Given the description of an element on the screen output the (x, y) to click on. 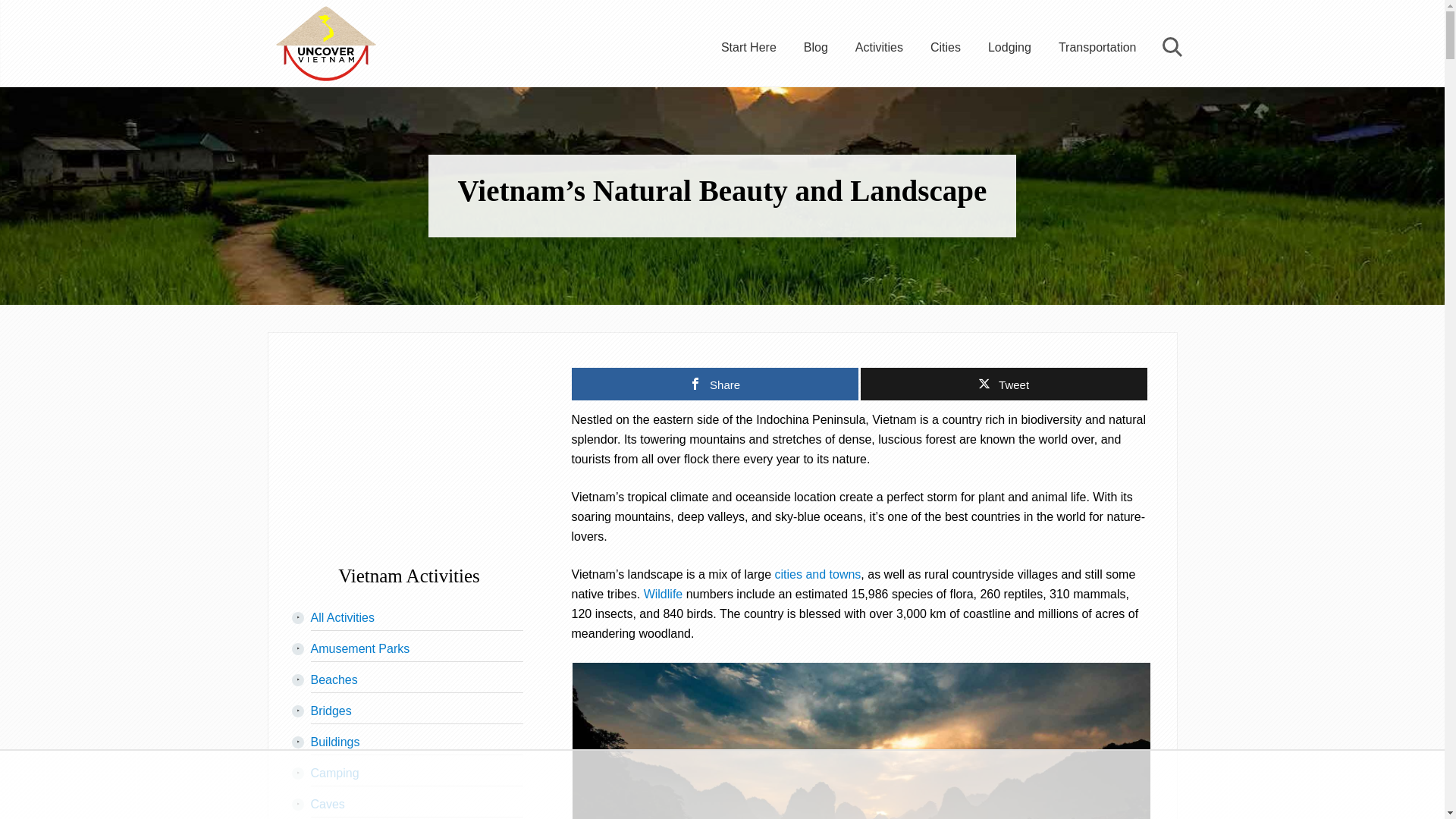
Wildlife in Vietnam (662, 594)
Search (1169, 47)
Transportation (1097, 47)
Activities (879, 47)
Start Here (749, 47)
Blog (816, 47)
Cities and towns in Vietnam (817, 574)
Lodging (1009, 47)
Tweet (1003, 383)
Cities (945, 47)
Share (715, 383)
Wildlife (662, 594)
cities and towns (817, 574)
